Given the description of an element on the screen output the (x, y) to click on. 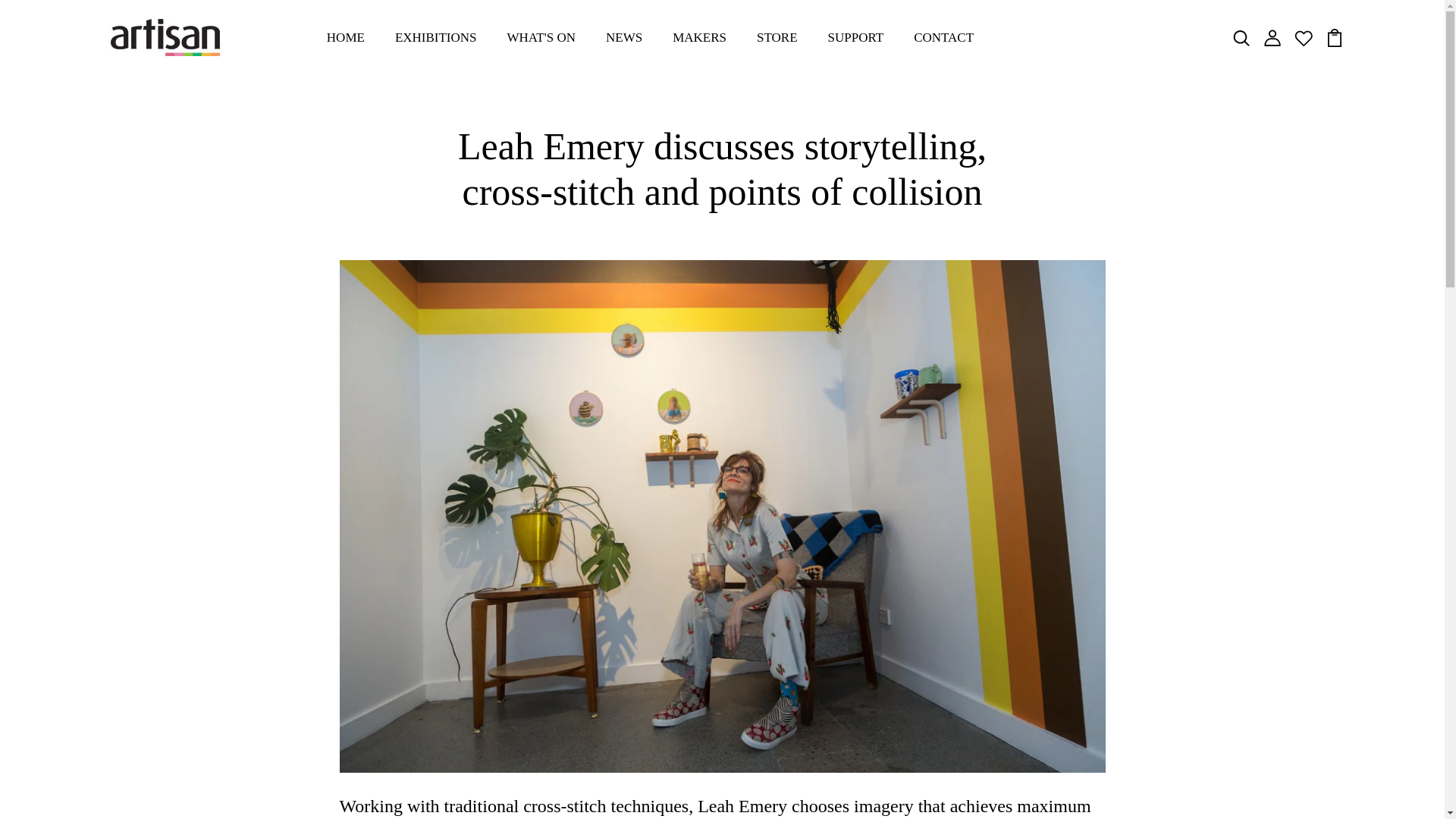
WHAT'S ON (540, 38)
Home (345, 38)
EXHIBITIONS (435, 38)
NEWS (623, 38)
MAKERS (699, 38)
HOME (345, 38)
What's on (540, 38)
Exhibitions (435, 38)
News (623, 38)
Makers (699, 38)
